Given the description of an element on the screen output the (x, y) to click on. 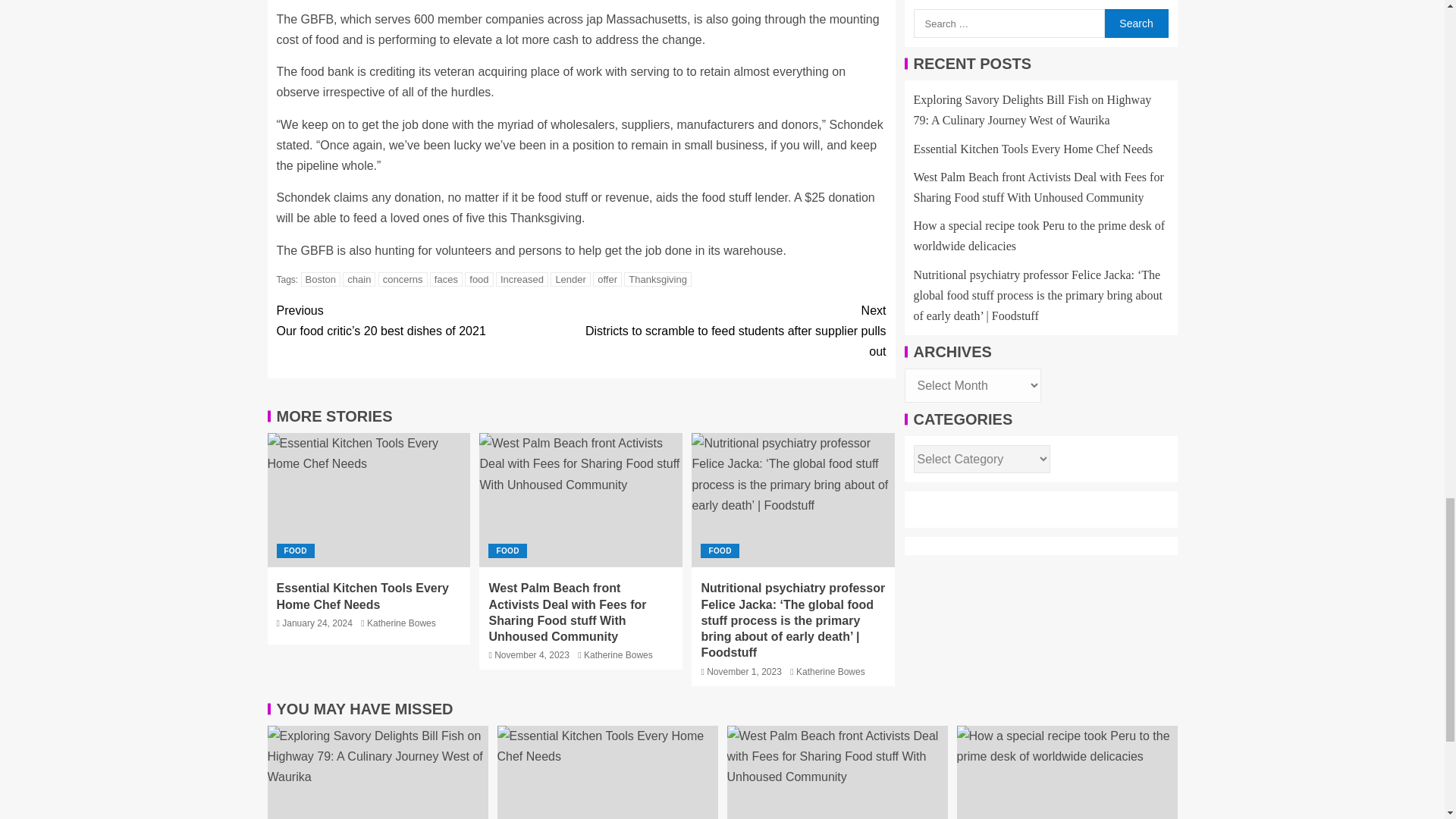
concerns (403, 278)
FOOD (295, 550)
Essential Kitchen Tools Every Home Chef Needs (607, 772)
Thanksgiving (657, 278)
Boston (320, 278)
faces (446, 278)
